Given the description of an element on the screen output the (x, y) to click on. 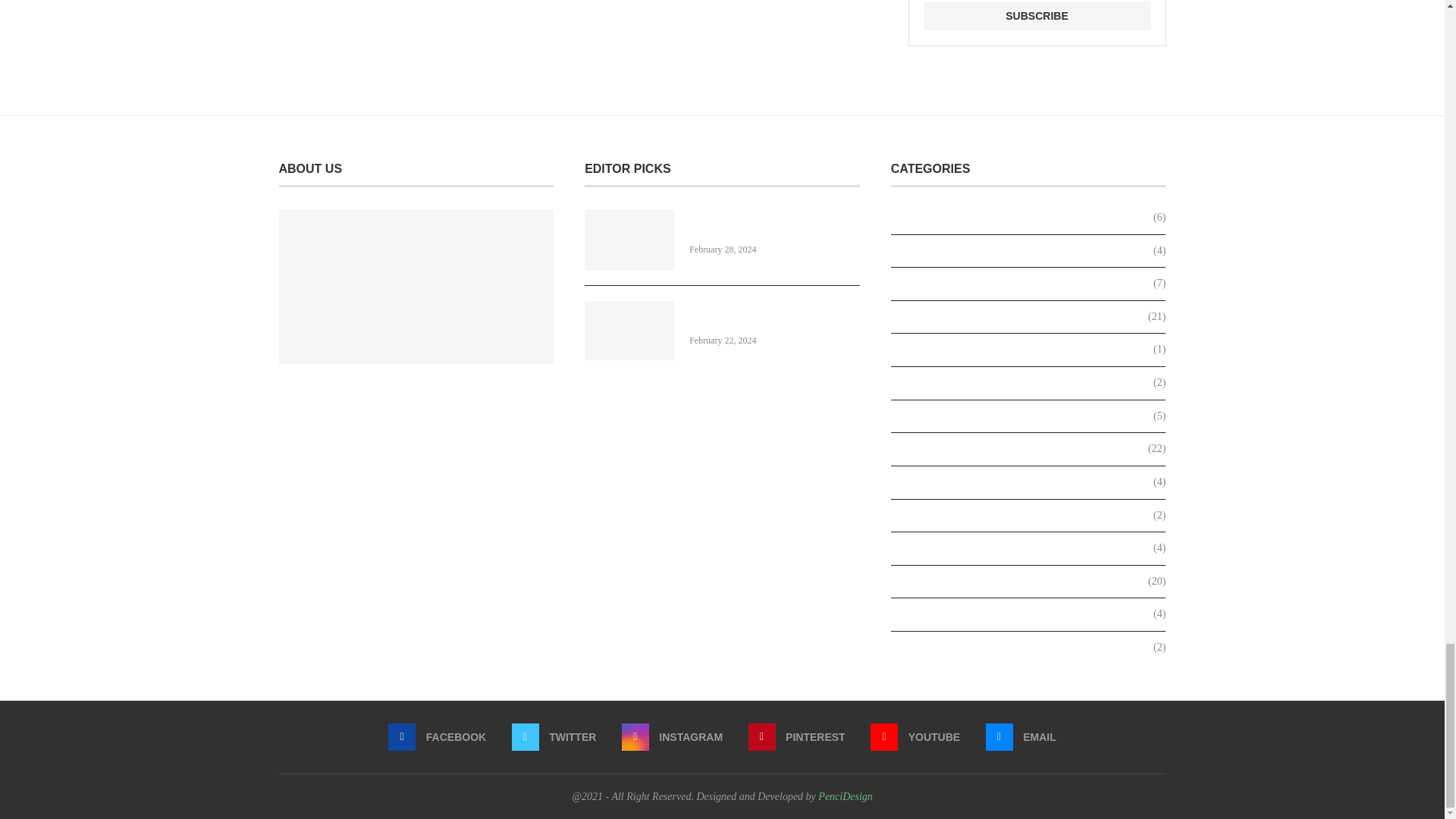
Subscribe (1036, 15)
